Given the description of an element on the screen output the (x, y) to click on. 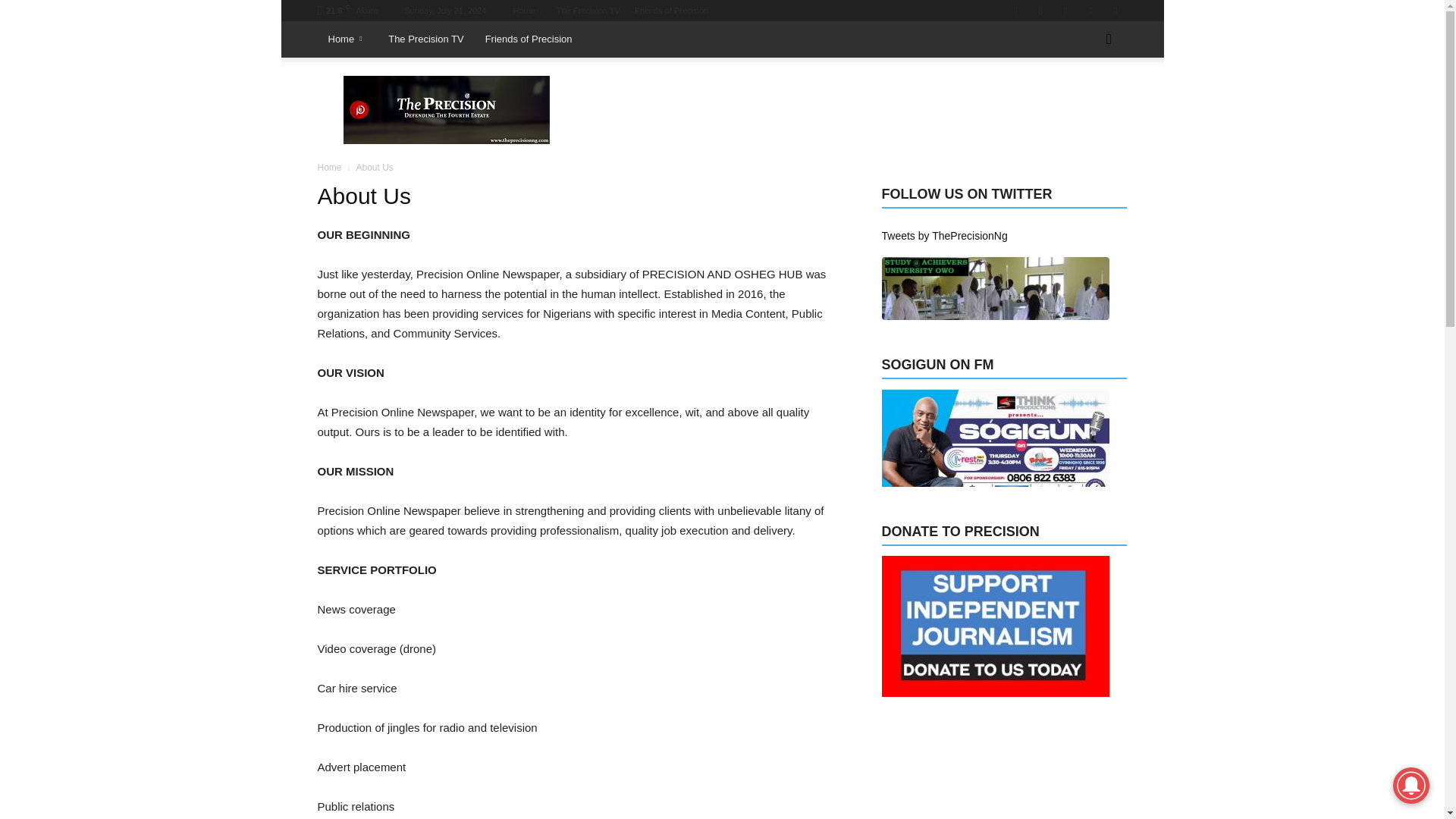
Instagram (1040, 10)
The Precision TV (588, 10)
Twitter (1090, 10)
Home (526, 10)
Friends of Precision (670, 10)
Advertisement (850, 110)
Home (347, 39)
Pinterest (1065, 10)
Youtube (1114, 10)
Facebook (1015, 10)
